Given the description of an element on the screen output the (x, y) to click on. 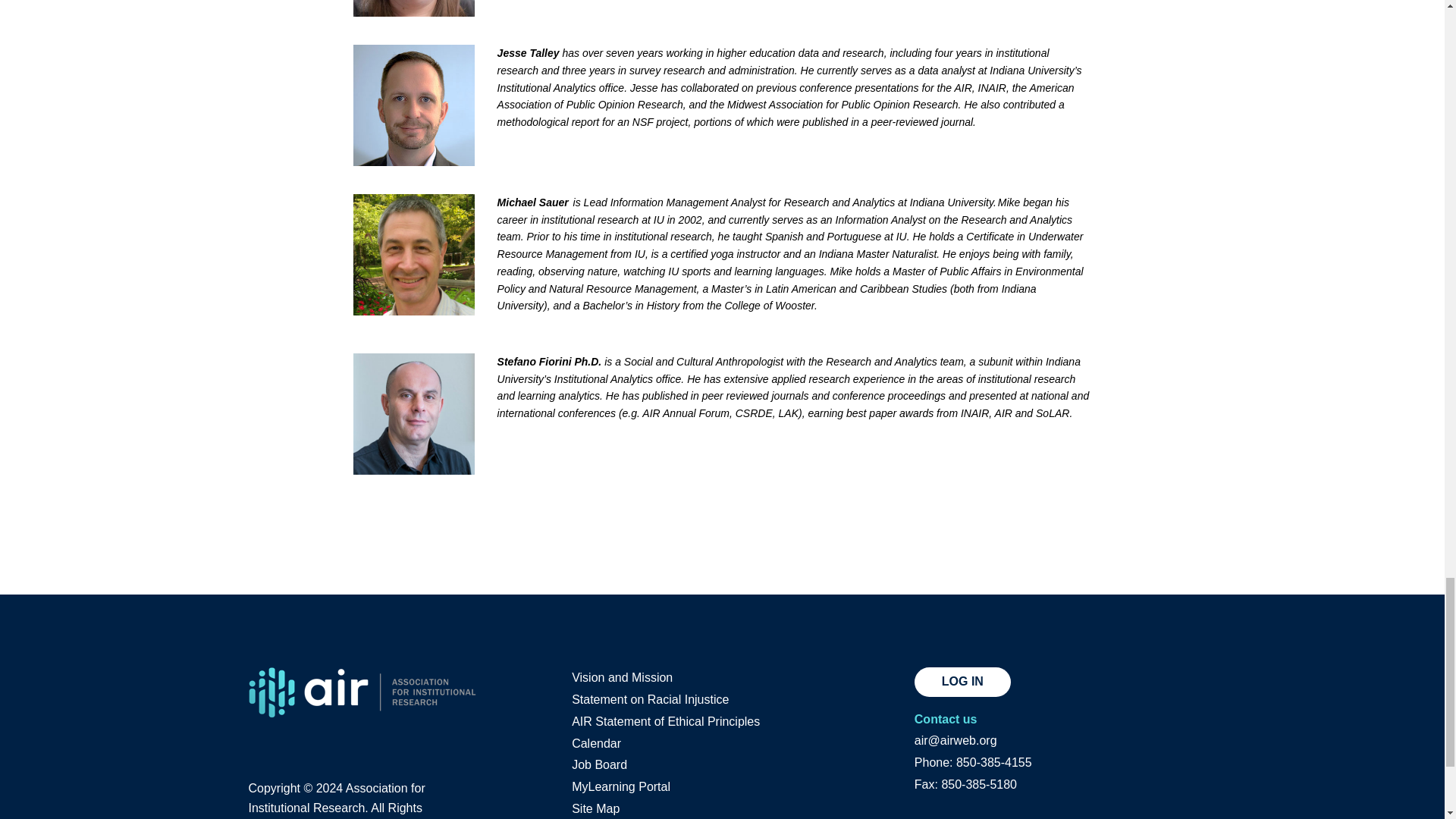
Deom (413, 8)
Association for Institutional Research (362, 692)
Fiorini (413, 413)
Talley (413, 105)
